Given the description of an element on the screen output the (x, y) to click on. 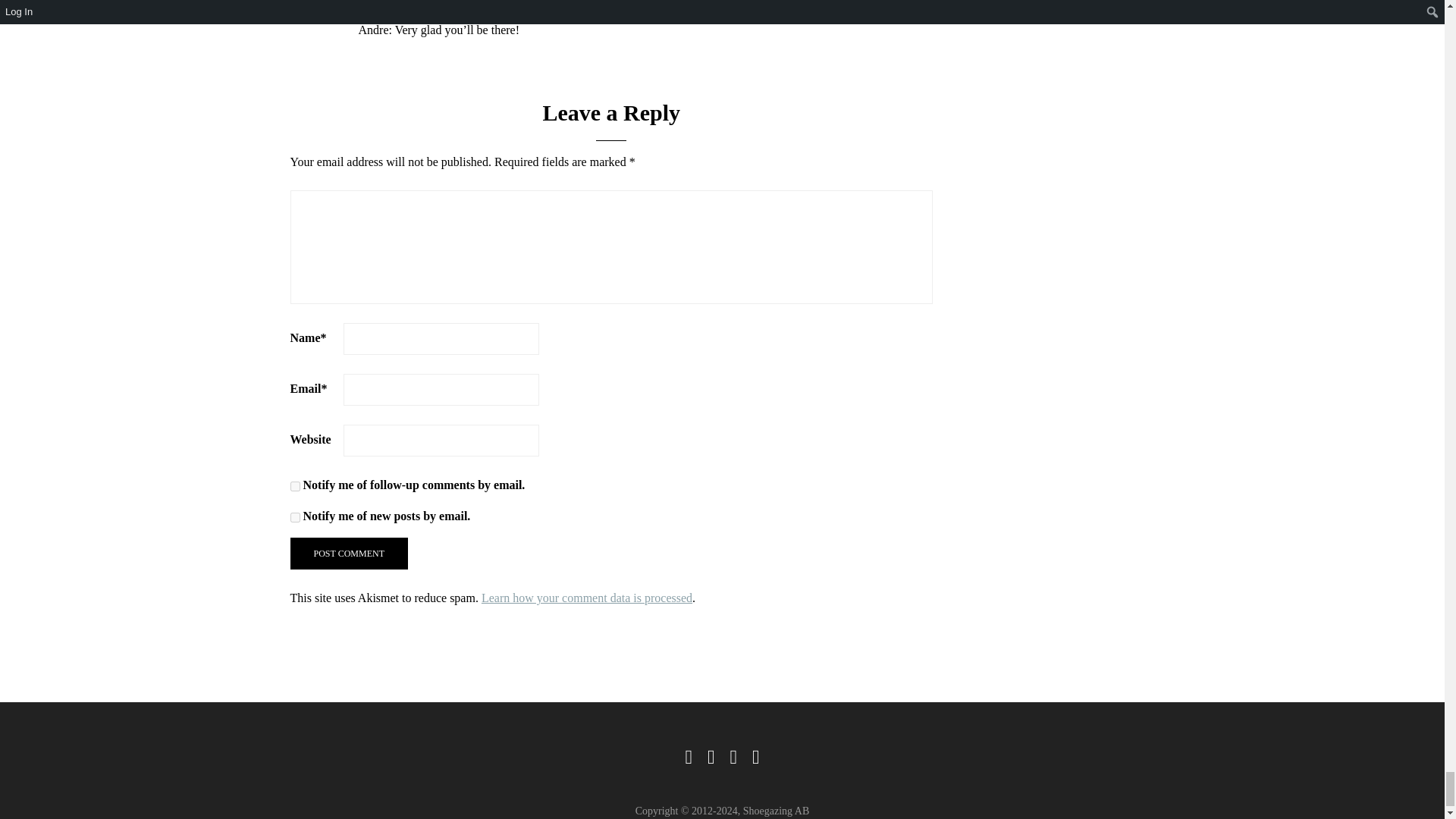
Post comment (348, 553)
subscribe (294, 517)
subscribe (294, 486)
